Given the description of an element on the screen output the (x, y) to click on. 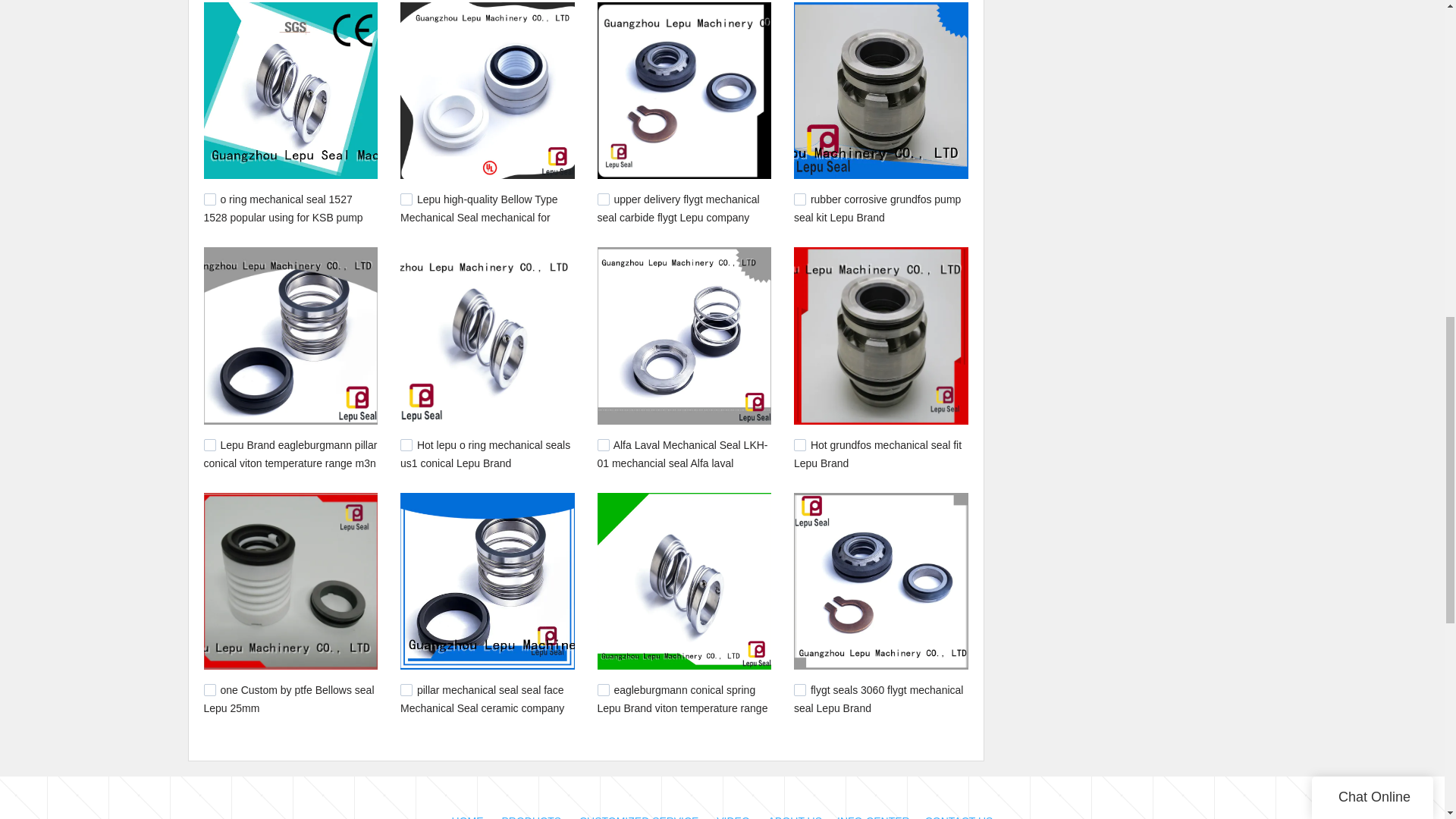
o ring mechanical seal 1527 1528 popular using for KSB pump (282, 208)
986 (209, 199)
650 (603, 444)
740 (799, 199)
687 (406, 444)
Hot lepu o ring mechanical seals us1 conical Lepu Brand (485, 453)
642 (799, 444)
